Given the description of an element on the screen output the (x, y) to click on. 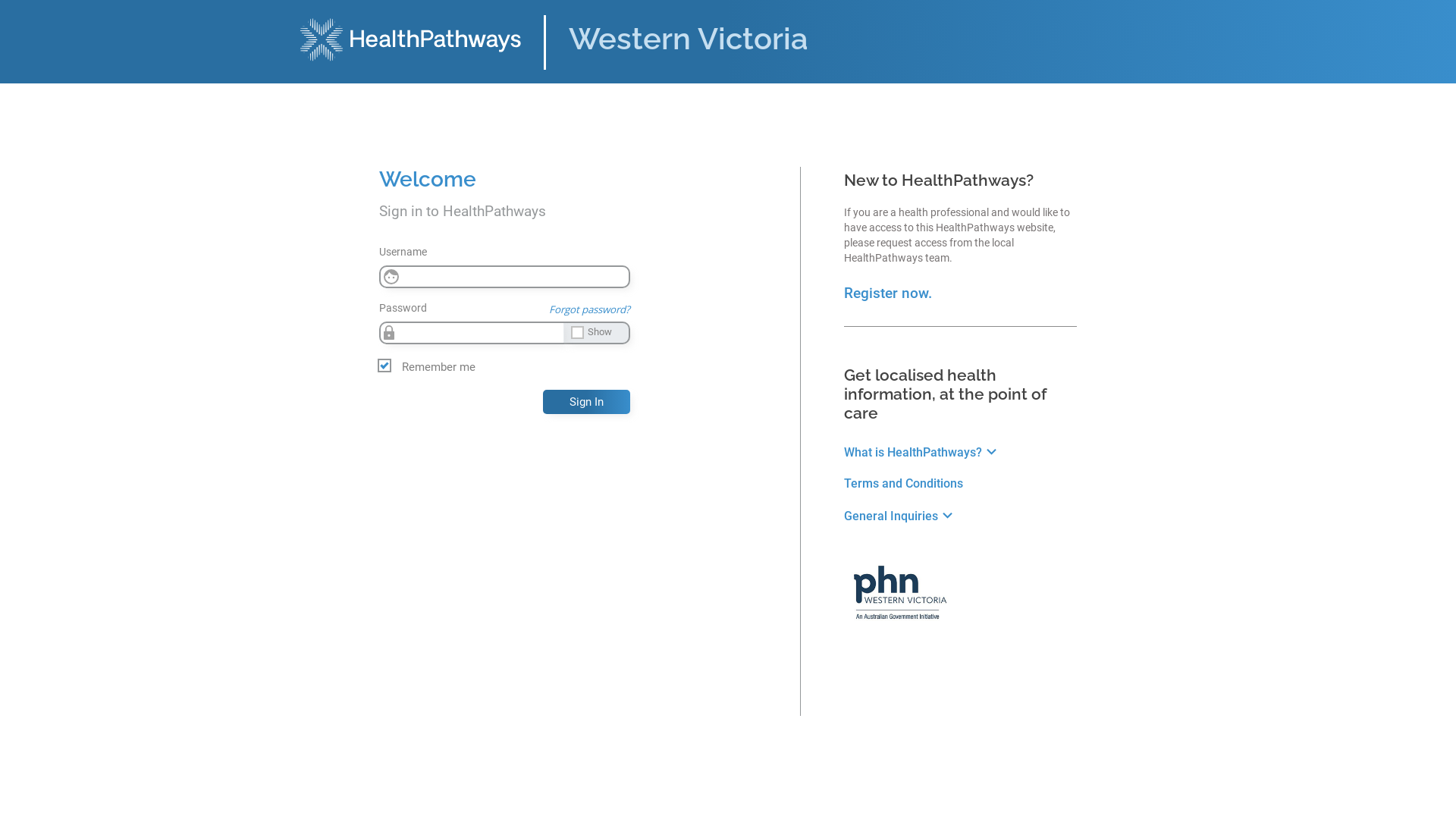
Terms and Conditions Element type: text (903, 483)
What is HealthPathways?expand_more Element type: text (922, 452)
Register now. Element type: text (887, 293)
General Inquiriesexpand_more Element type: text (900, 515)
Sign In Element type: text (586, 401)
on Element type: text (4, 11)
